Given the description of an element on the screen output the (x, y) to click on. 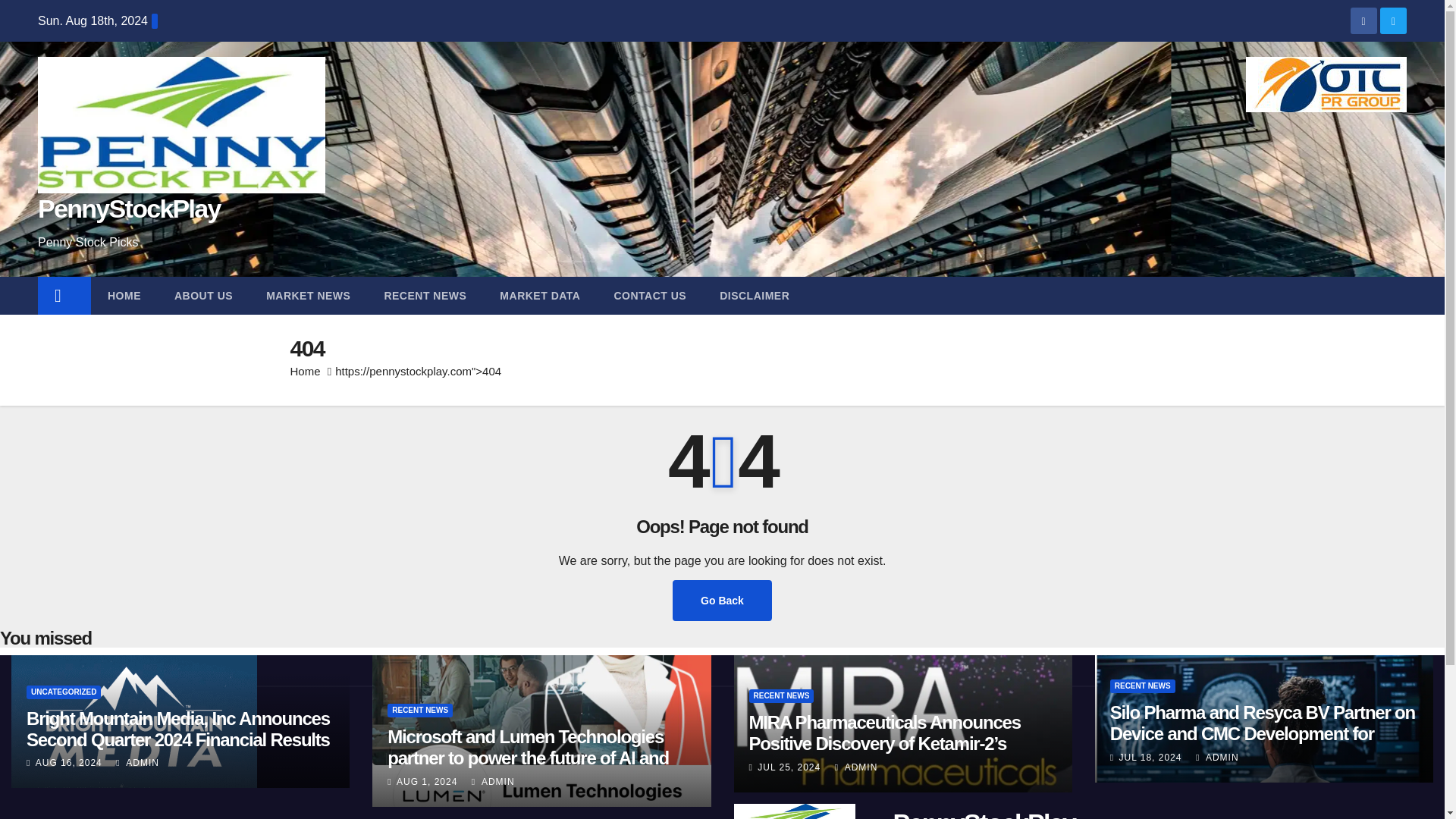
ABOUT US (202, 295)
Home (304, 370)
ADMIN (1217, 757)
MARKET NEWS (307, 295)
AUG 16, 2024 (67, 762)
ADMIN (493, 781)
MARKET DATA (539, 295)
RECENT NEWS (424, 295)
